Given the description of an element on the screen output the (x, y) to click on. 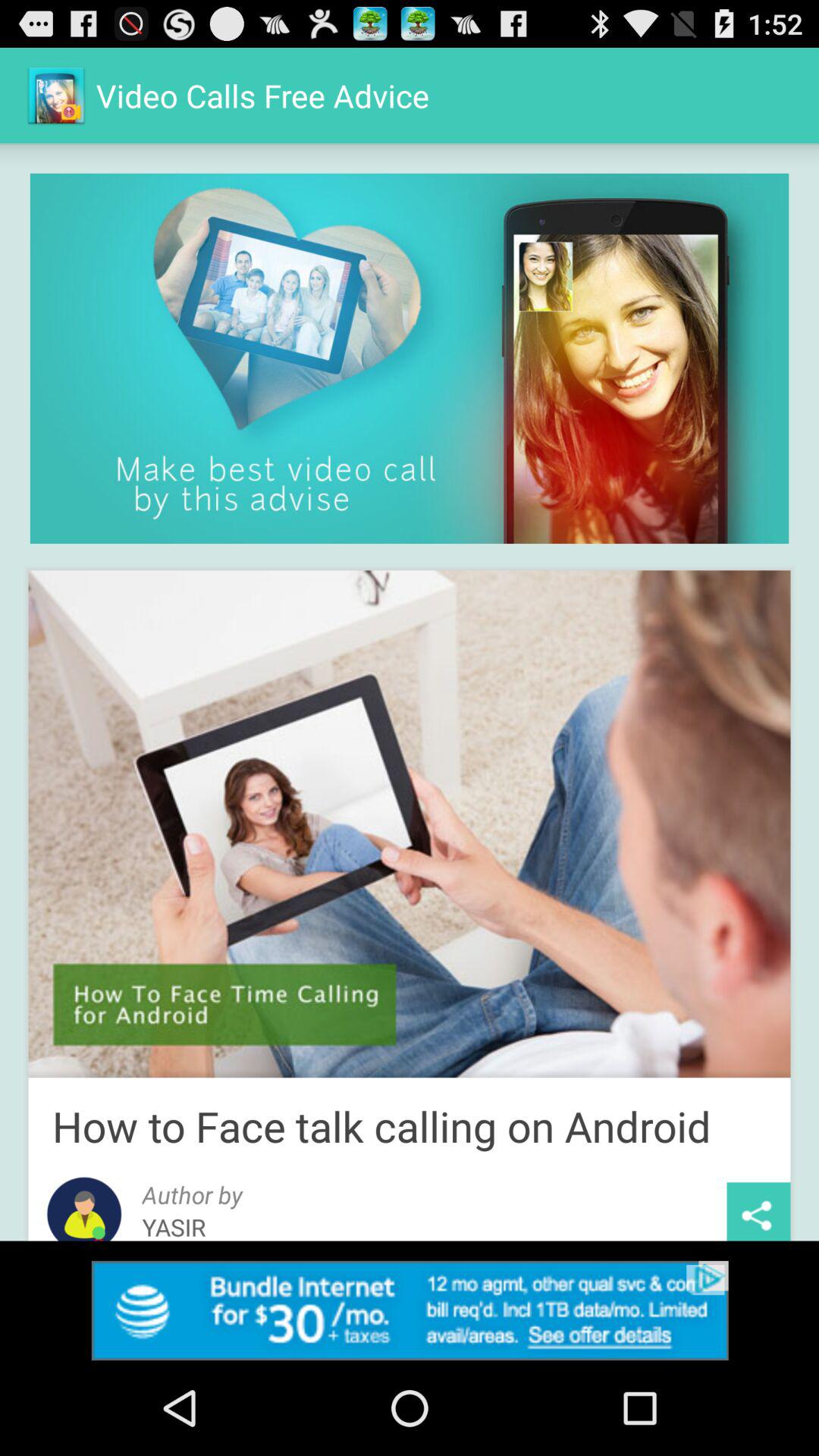
share article (758, 1211)
